Given the description of an element on the screen output the (x, y) to click on. 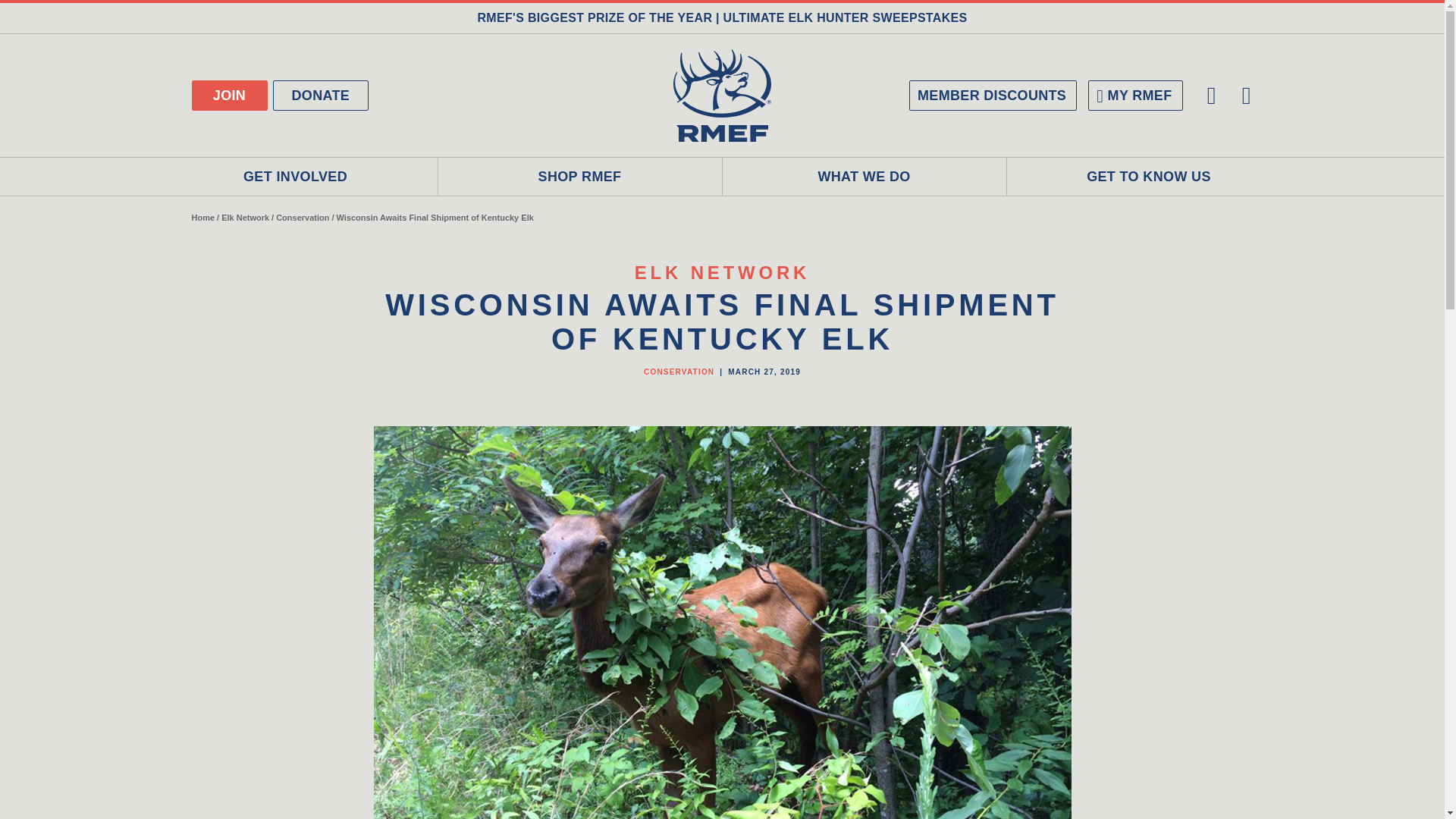
JOIN (228, 95)
SHOP RMEF (580, 176)
MEMBER DISCOUNTS (992, 95)
GET TO KNOW US (1149, 176)
WHAT WE DO (864, 176)
GET INVOLVED (295, 176)
DONATE (321, 95)
MY RMEF (1134, 95)
